Given the description of an element on the screen output the (x, y) to click on. 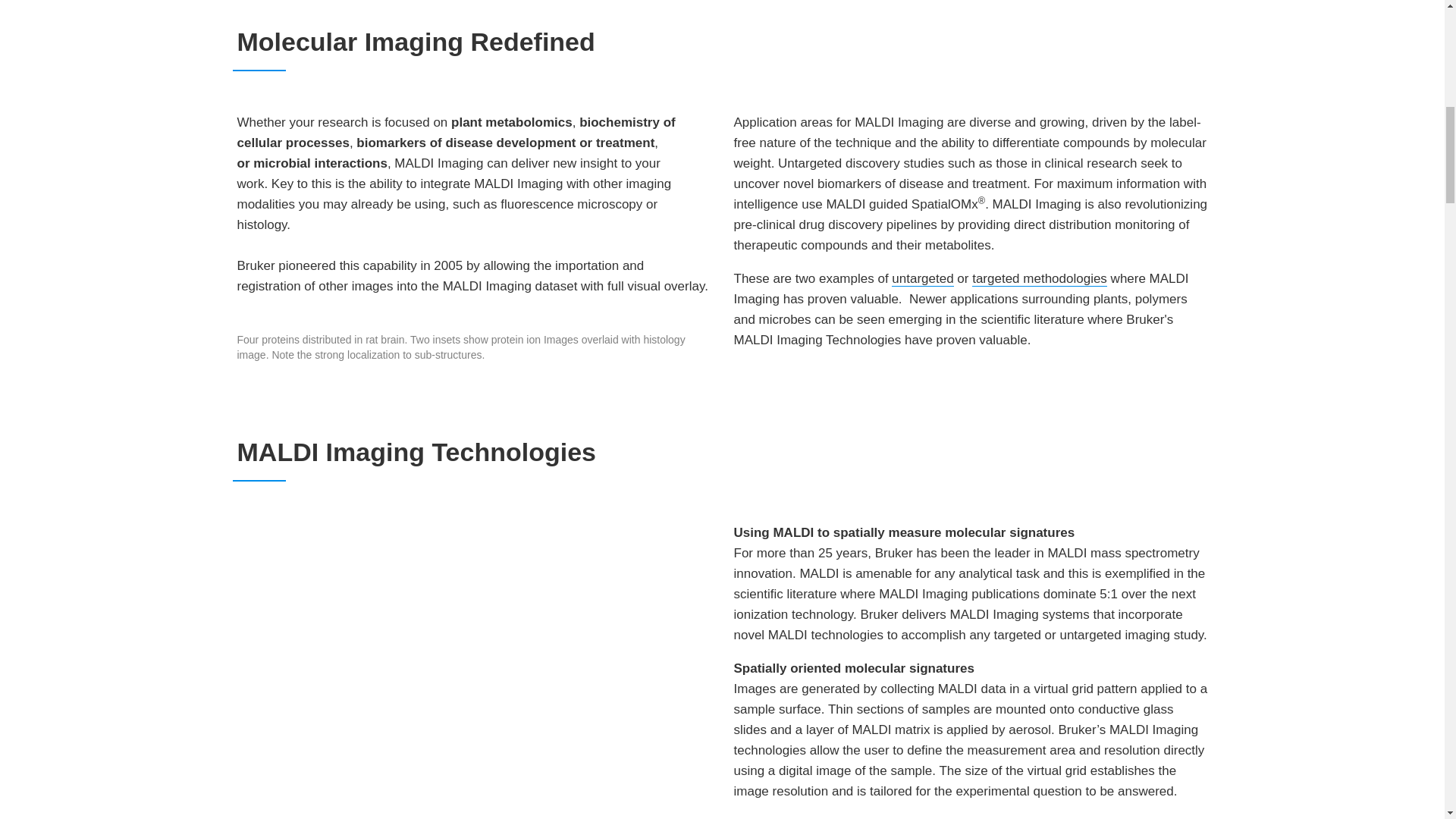
targeted methodologies (1039, 278)
untargeted (922, 278)
